Given the description of an element on the screen output the (x, y) to click on. 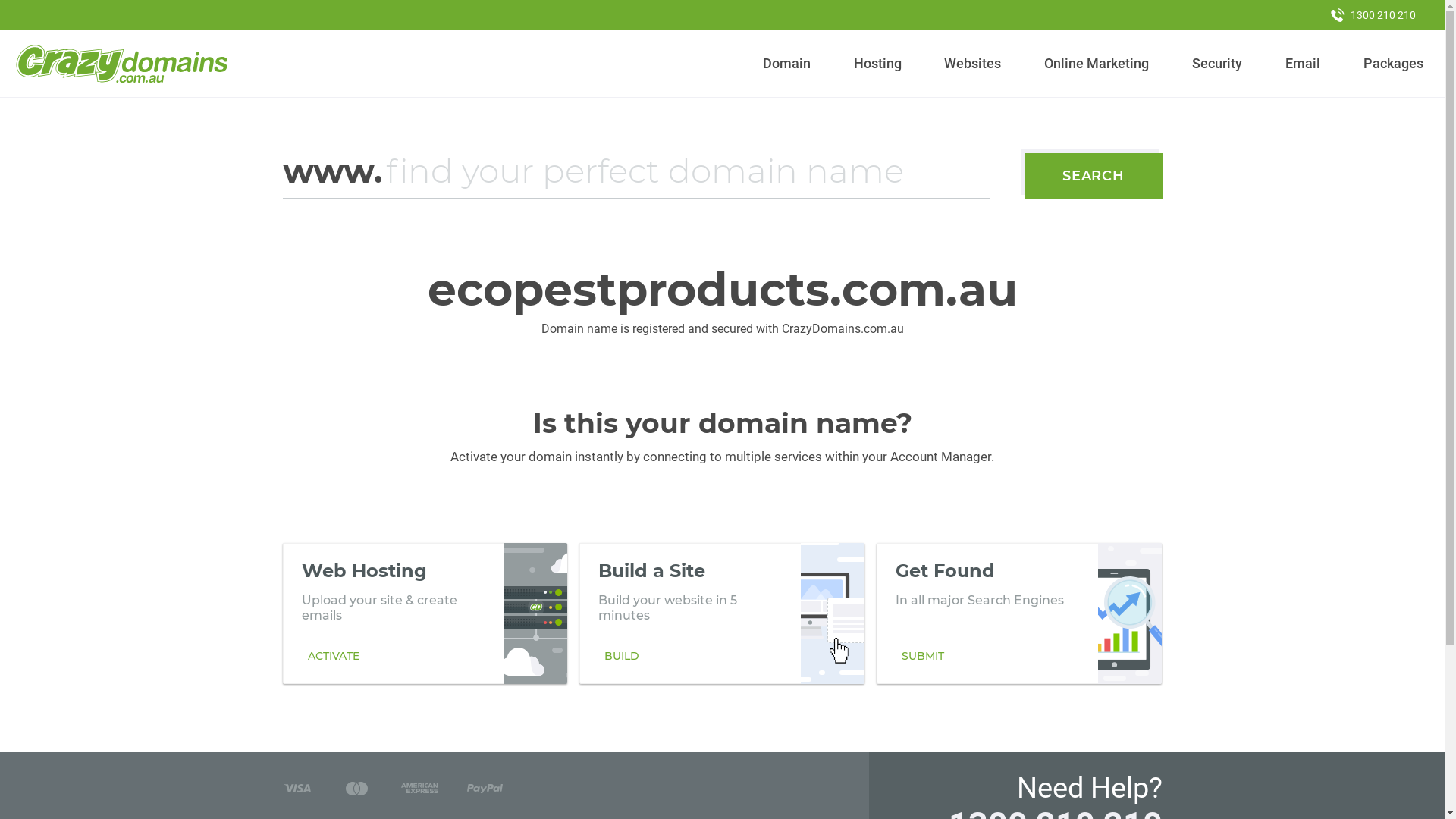
Security Element type: text (1217, 63)
Hosting Element type: text (877, 63)
Get Found
In all major Search Engines
SUBMIT Element type: text (1018, 613)
Online Marketing Element type: text (1096, 63)
Build a Site
Build your website in 5 minutes
BUILD Element type: text (721, 613)
Email Element type: text (1302, 63)
Domain Element type: text (786, 63)
1300 210 210 Element type: text (1373, 15)
Websites Element type: text (972, 63)
Packages Element type: text (1392, 63)
Web Hosting
Upload your site & create emails
ACTIVATE Element type: text (424, 613)
SEARCH Element type: text (1092, 175)
